Given the description of an element on the screen output the (x, y) to click on. 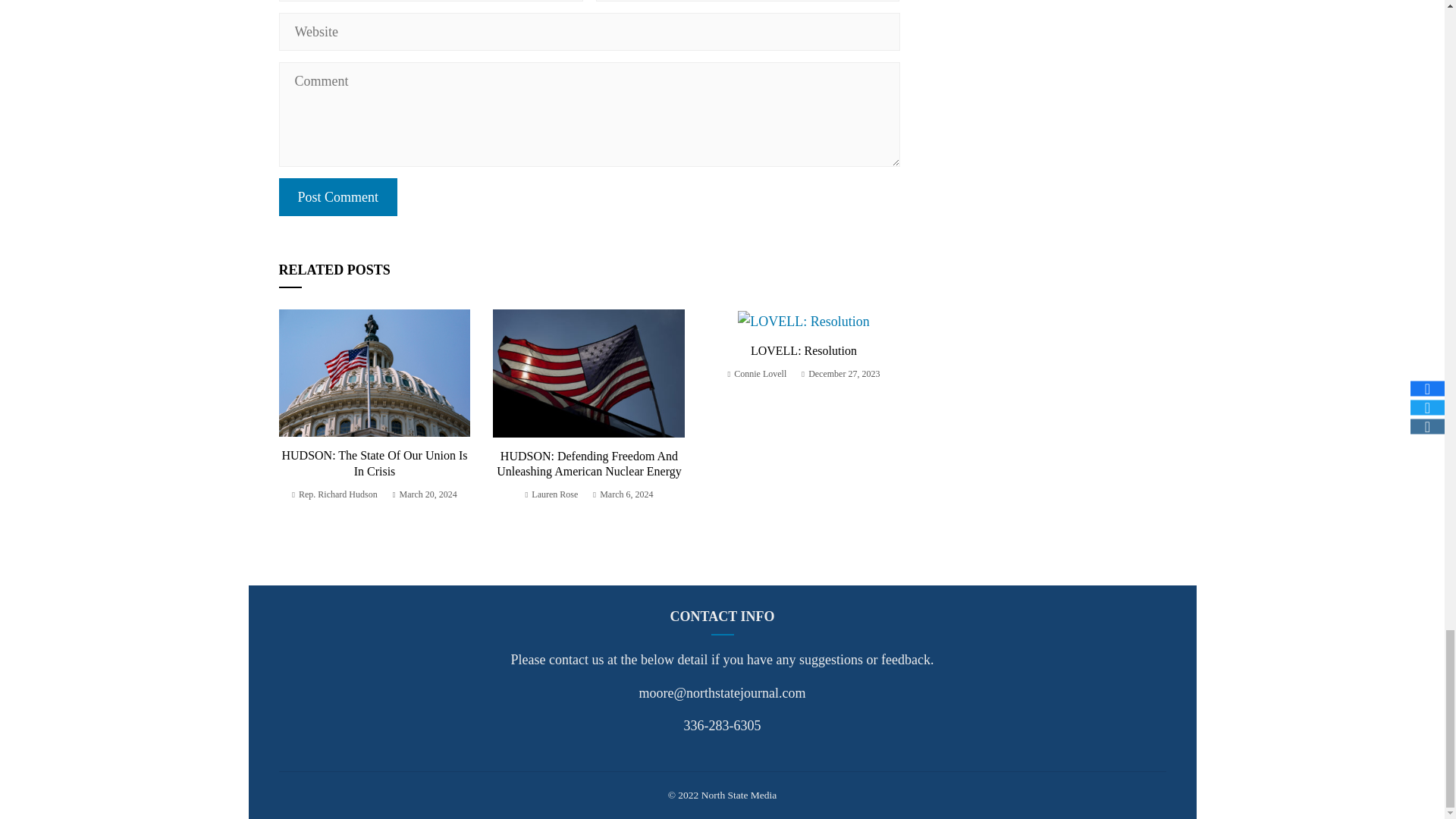
HUDSON: The state of our union is in crisis (374, 462)
LOVELL: Resolution (804, 350)
Post Comment (338, 197)
